Given the description of an element on the screen output the (x, y) to click on. 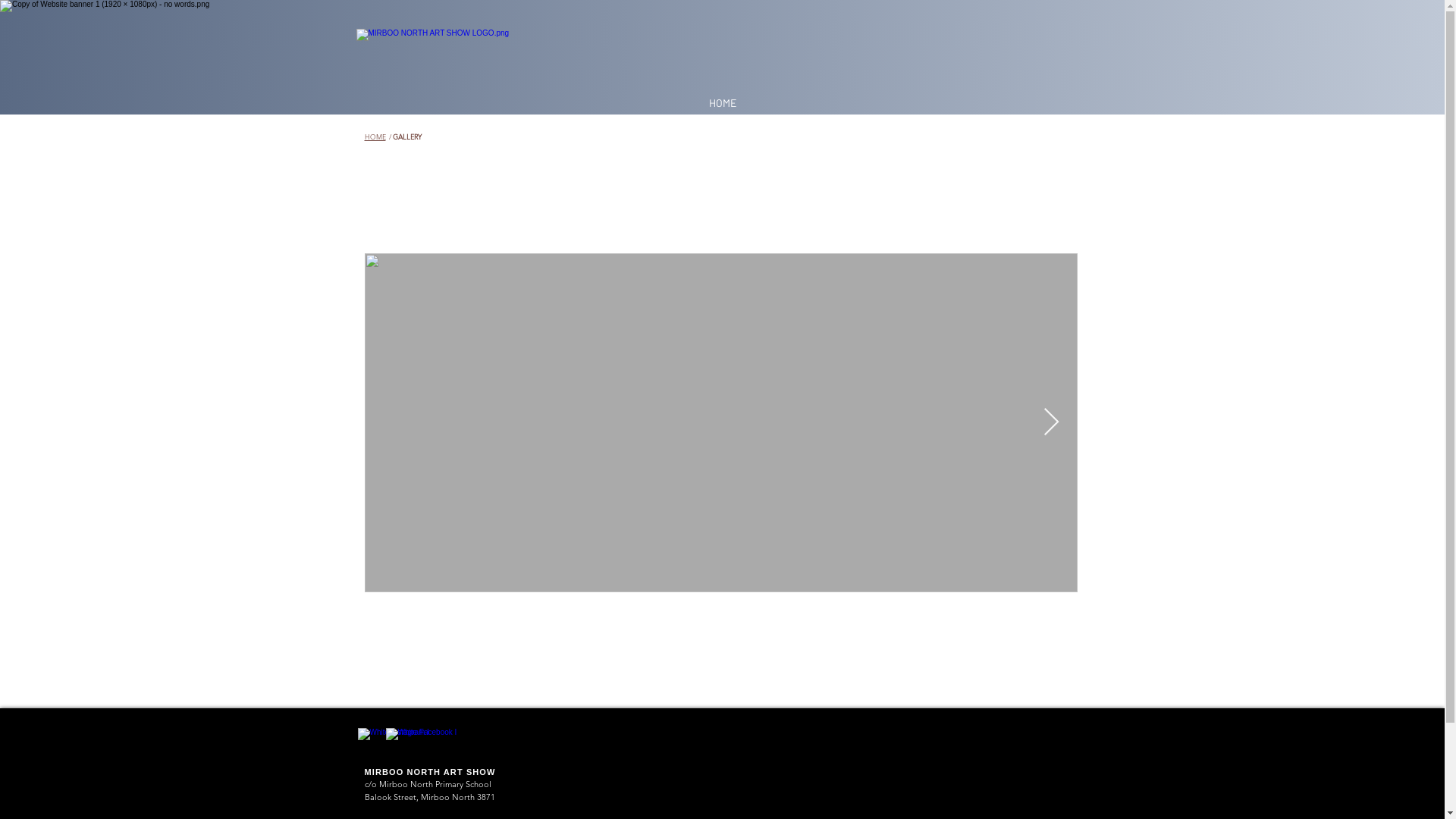
HOME Element type: text (721, 102)
HOME Element type: text (374, 136)
